Given the description of an element on the screen output the (x, y) to click on. 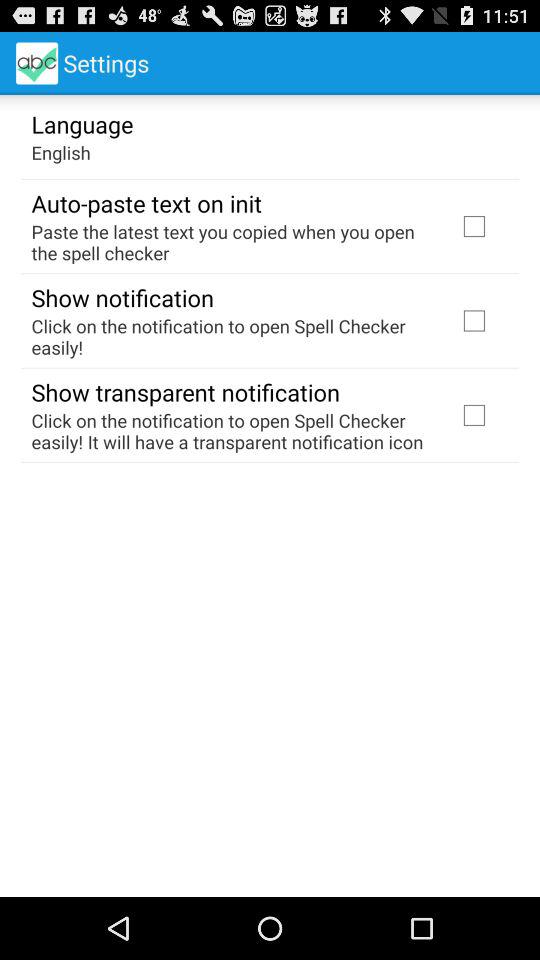
turn off the icon below auto paste text (231, 242)
